Given the description of an element on the screen output the (x, y) to click on. 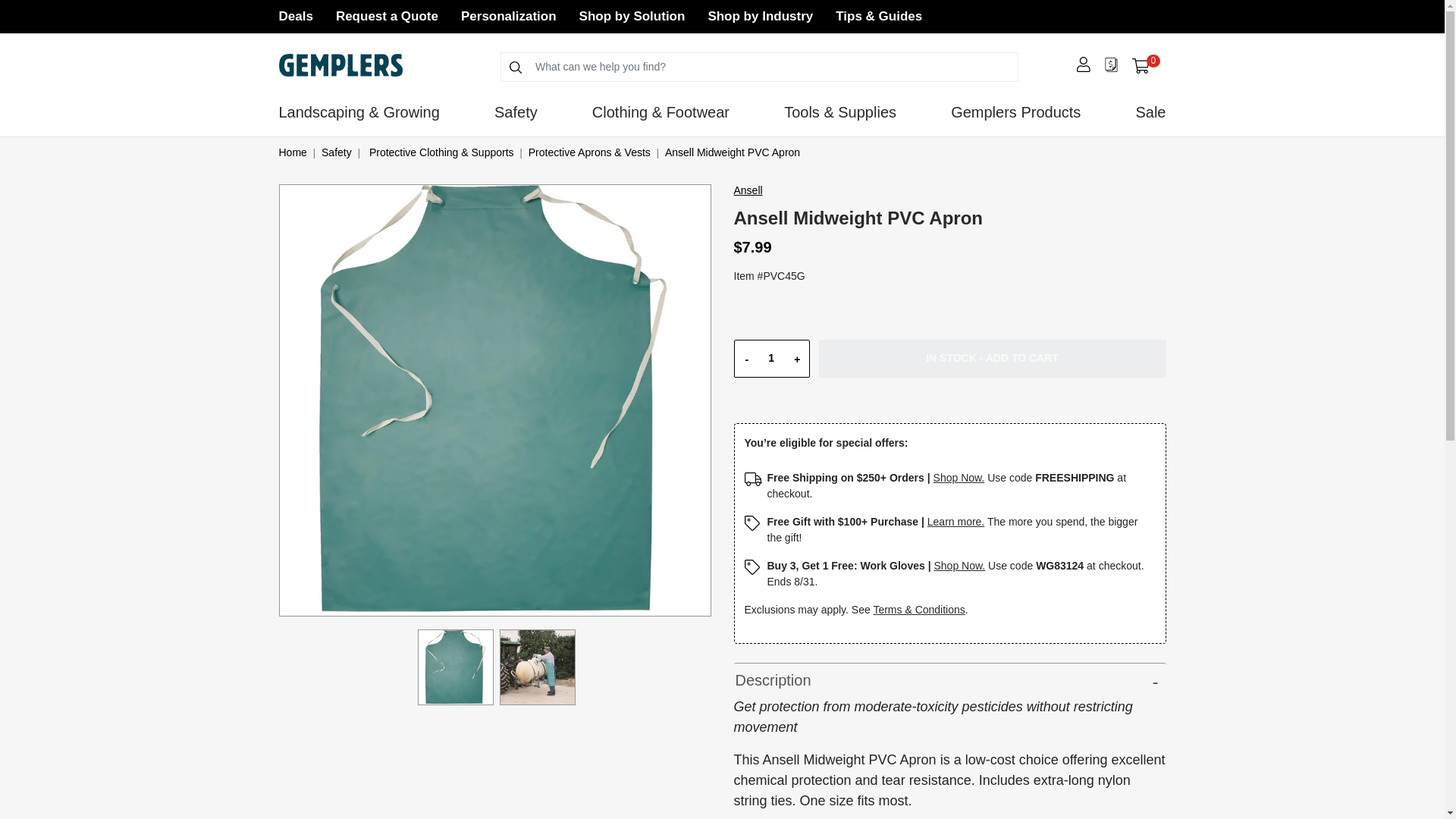
1 (770, 357)
Shop by Industry (759, 16)
Request a Quote (387, 16)
Deals (296, 16)
Shop by Solution (1145, 65)
Personalization (632, 16)
Shopping Cart (508, 16)
